Given the description of an element on the screen output the (x, y) to click on. 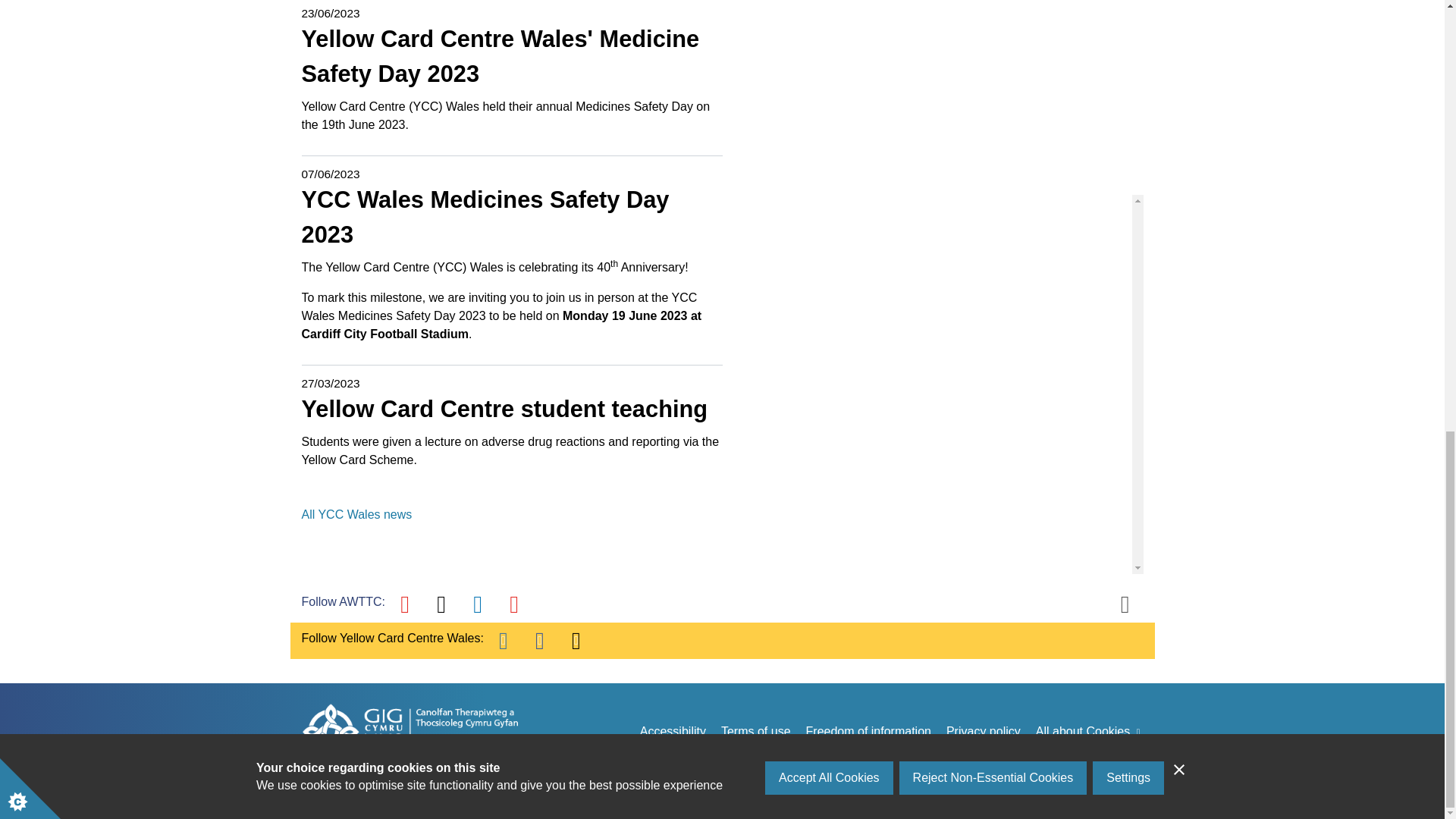
YouTube (405, 604)
Scroll to the top of this content (1124, 604)
YouTube video player (933, 94)
Twitter (441, 604)
Linkedin (478, 604)
